Given the description of an element on the screen output the (x, y) to click on. 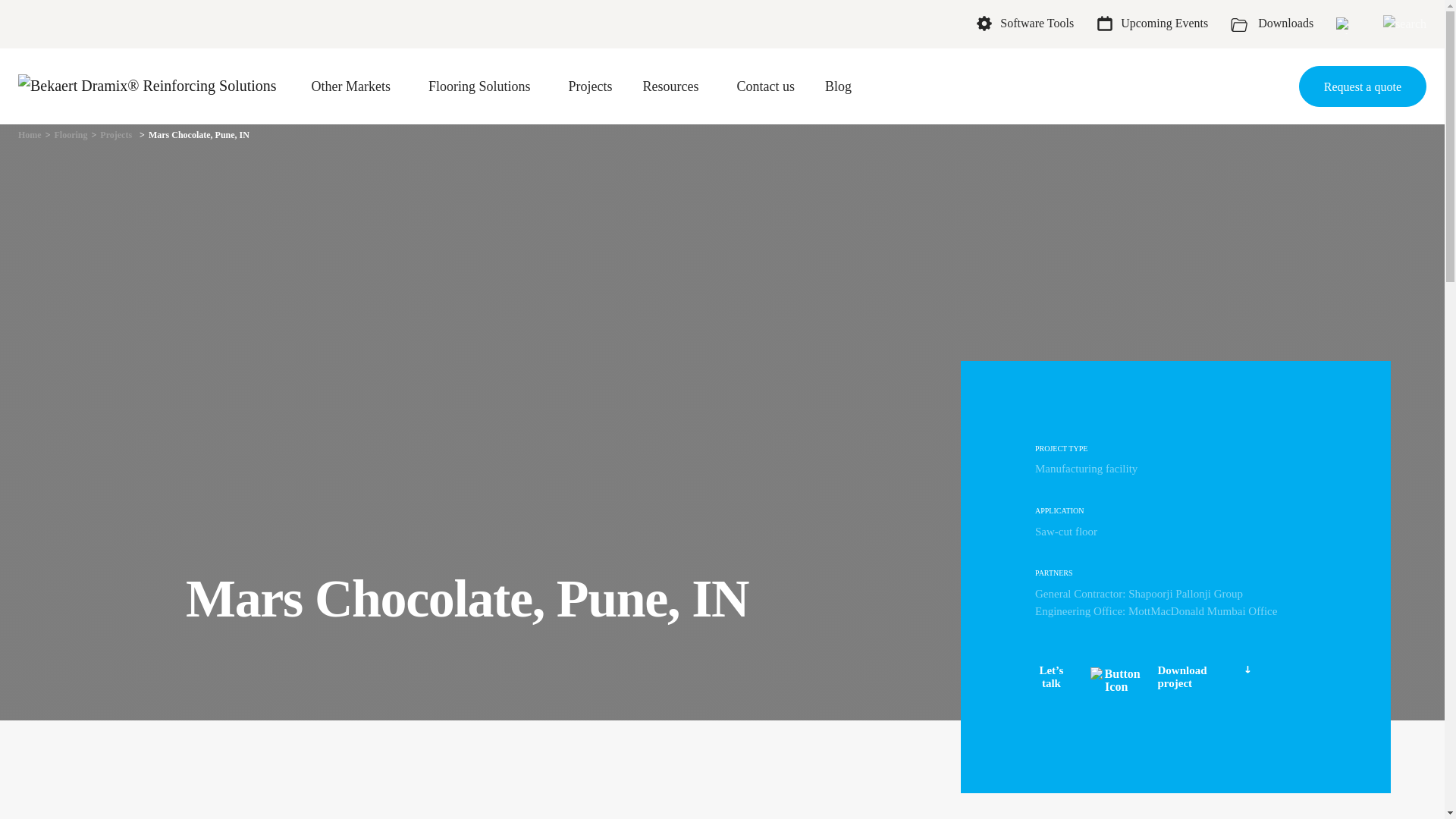
Upcoming Events (1160, 21)
Contact us (766, 85)
Upcoming Events (1152, 23)
Software Tools (1024, 23)
Software Tools (1033, 21)
Flooring Solutions (479, 85)
Resources (671, 85)
Other Markets (350, 85)
Downloads (1271, 23)
